Given the description of an element on the screen output the (x, y) to click on. 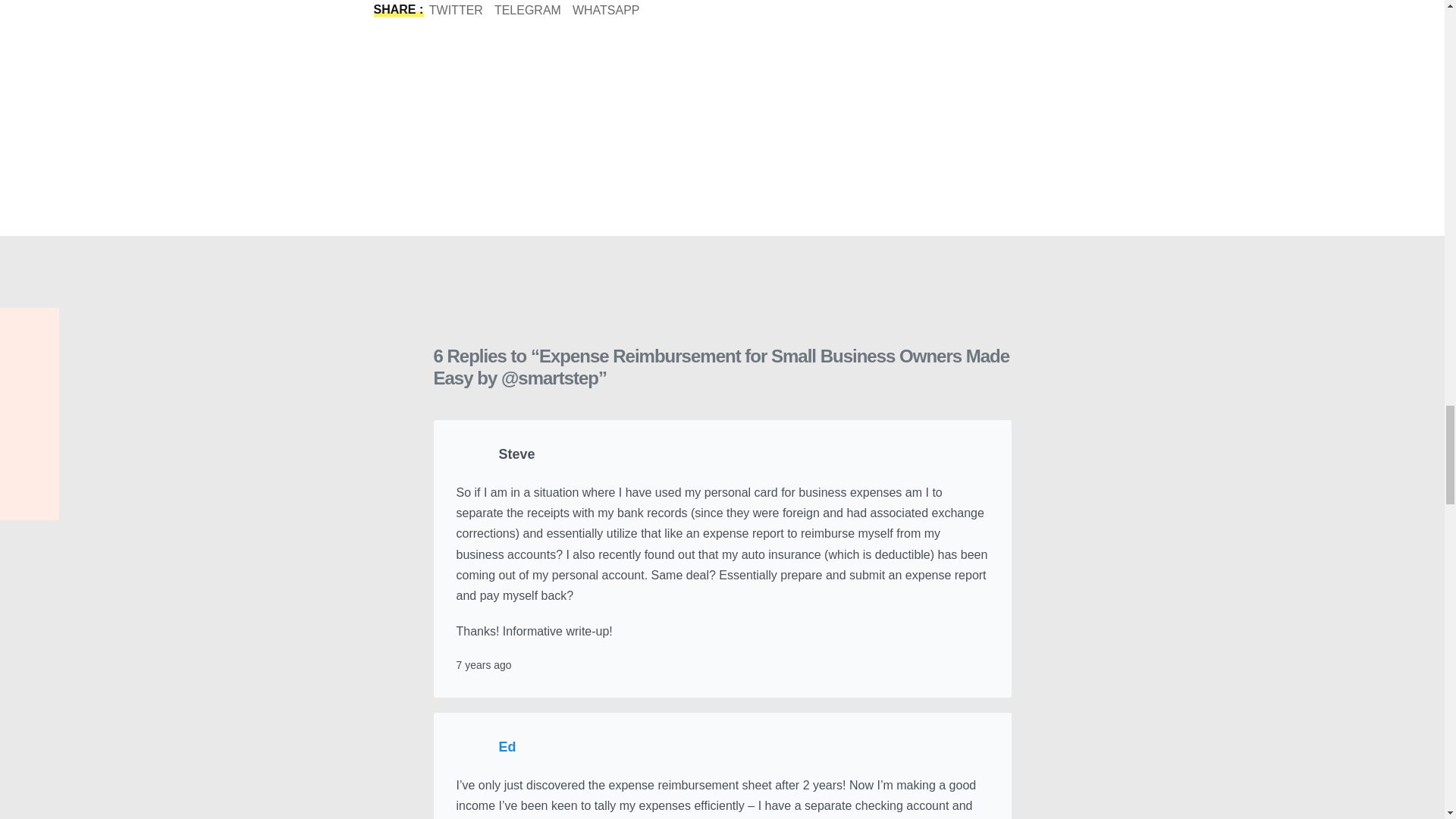
2017-09-22T19:34:08-05:00 (484, 664)
